Given the description of an element on the screen output the (x, y) to click on. 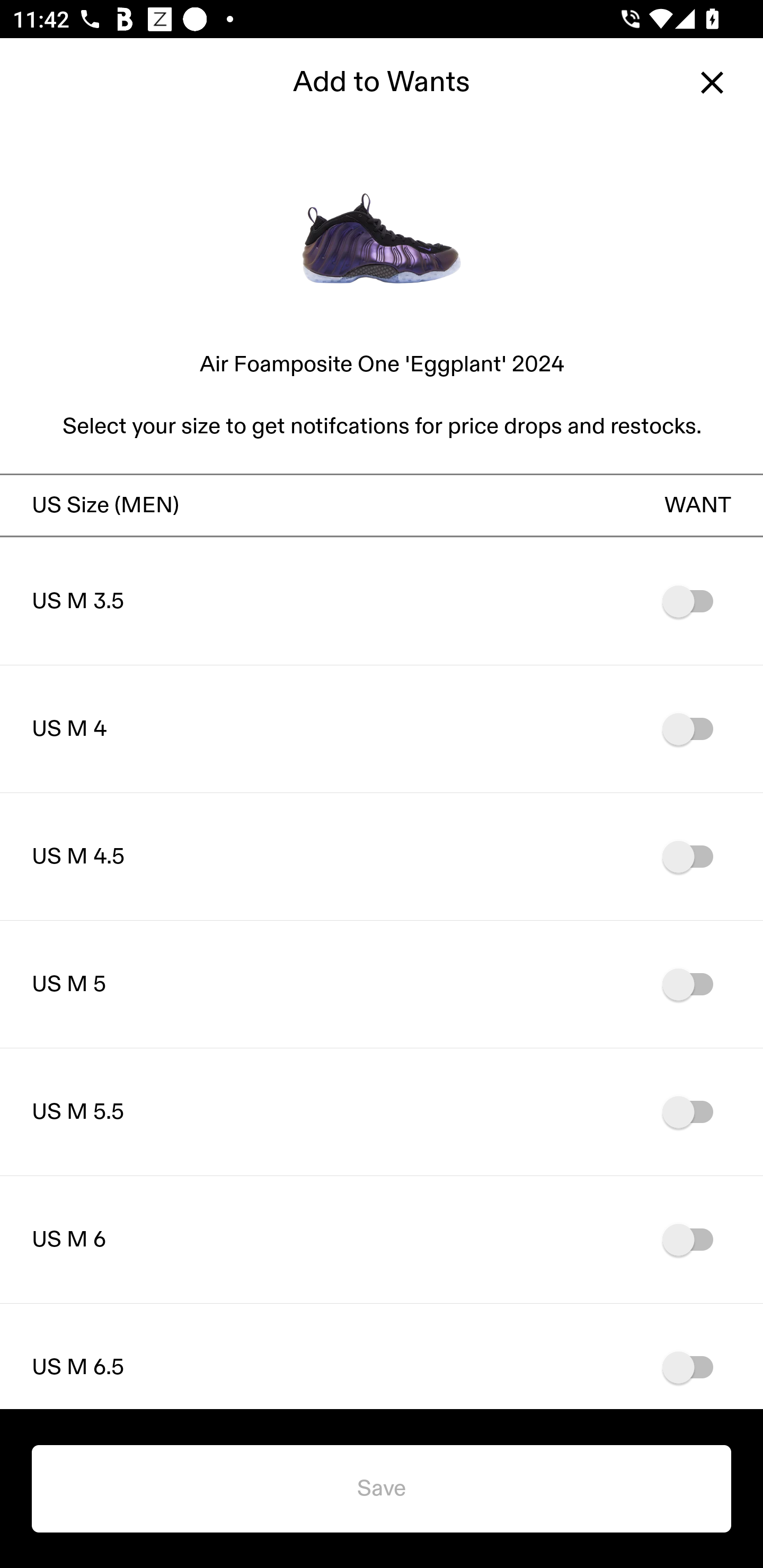
Save (381, 1488)
